Given the description of an element on the screen output the (x, y) to click on. 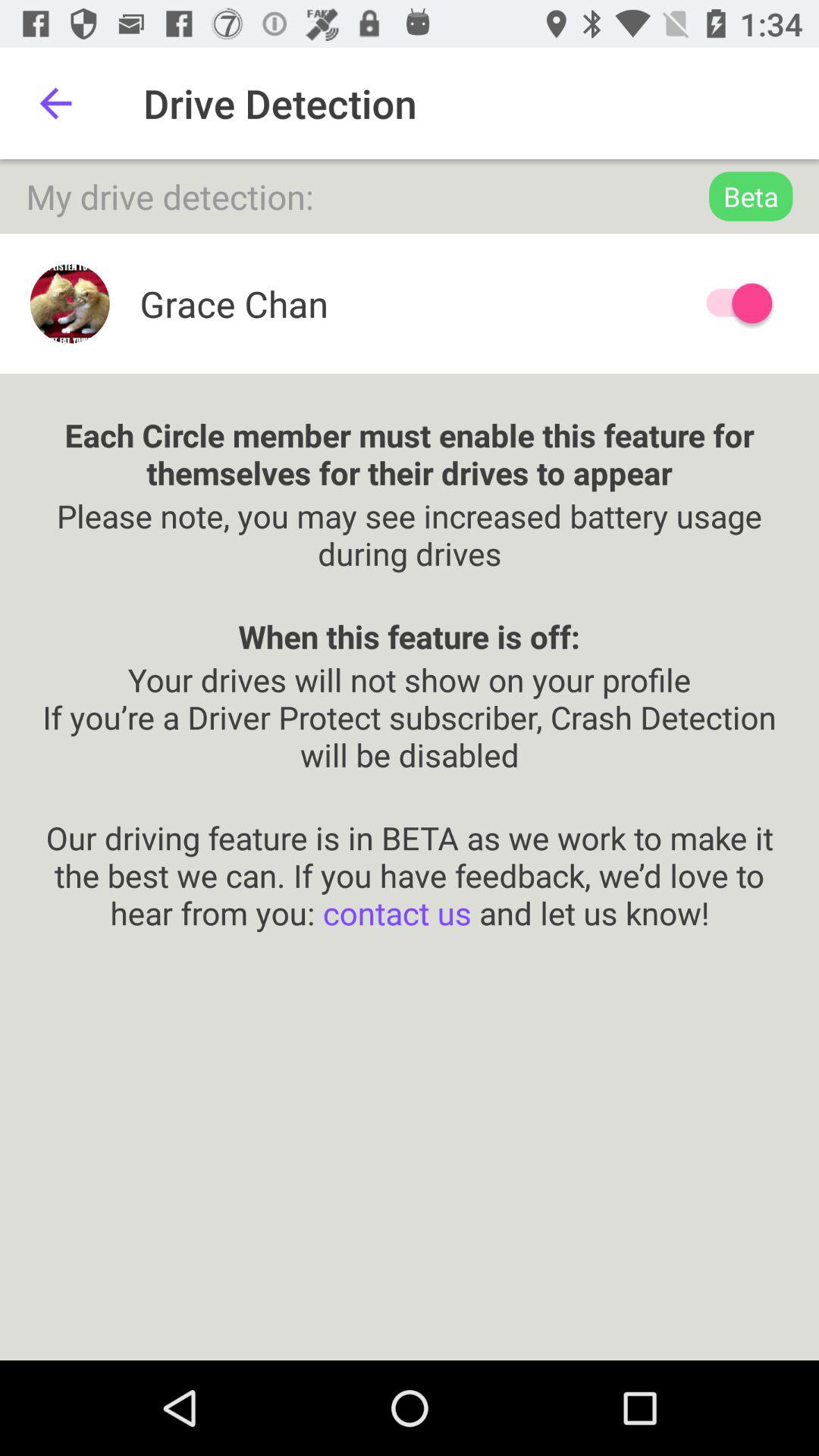
toggle drive detection option (731, 303)
